Given the description of an element on the screen output the (x, y) to click on. 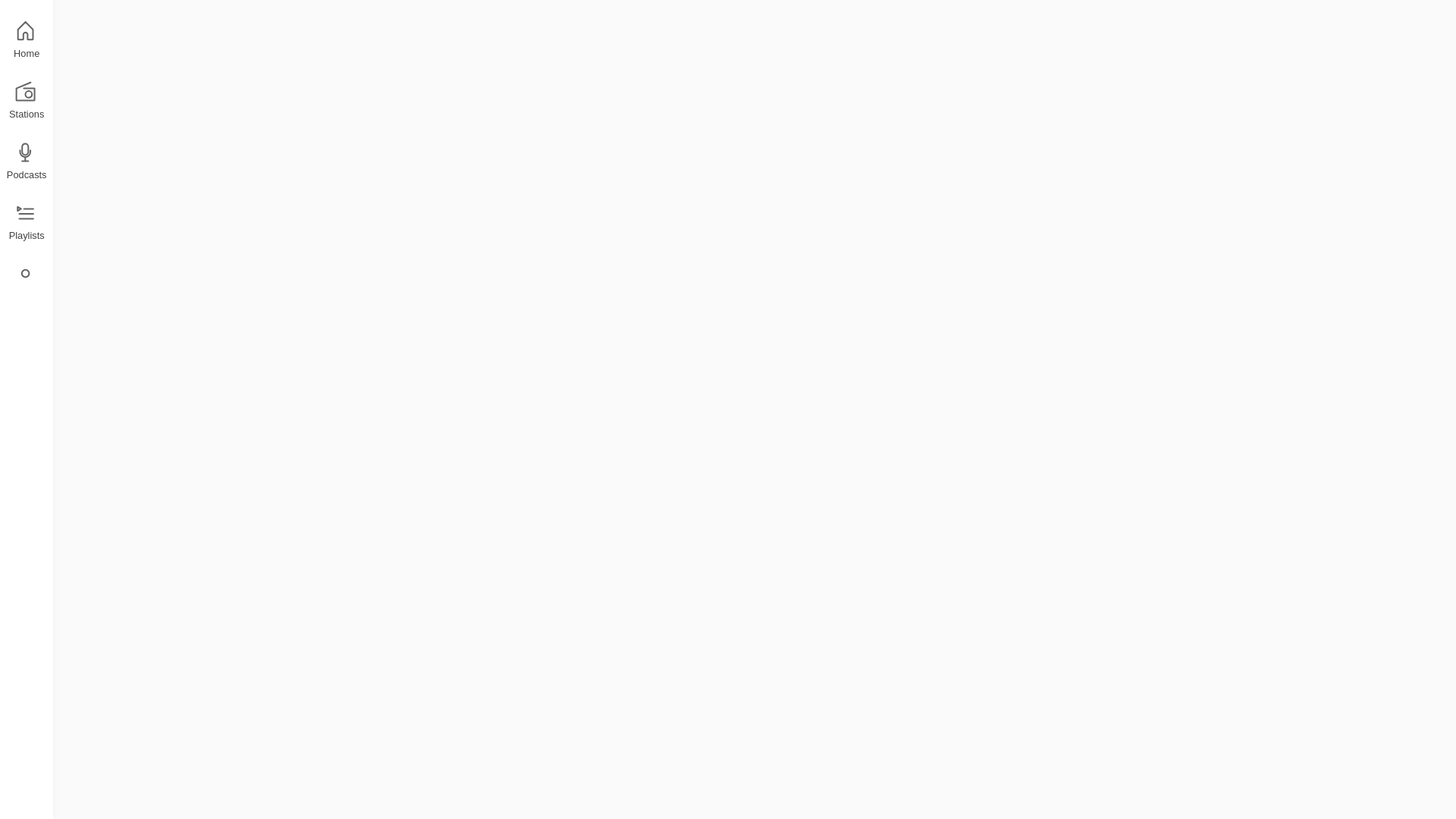
Podcasts Element type: text (24, 161)
Home Element type: text (24, 40)
Stations Element type: text (24, 101)
Playlists Element type: text (24, 222)
Settings Element type: hover (24, 283)
